Given the description of an element on the screen output the (x, y) to click on. 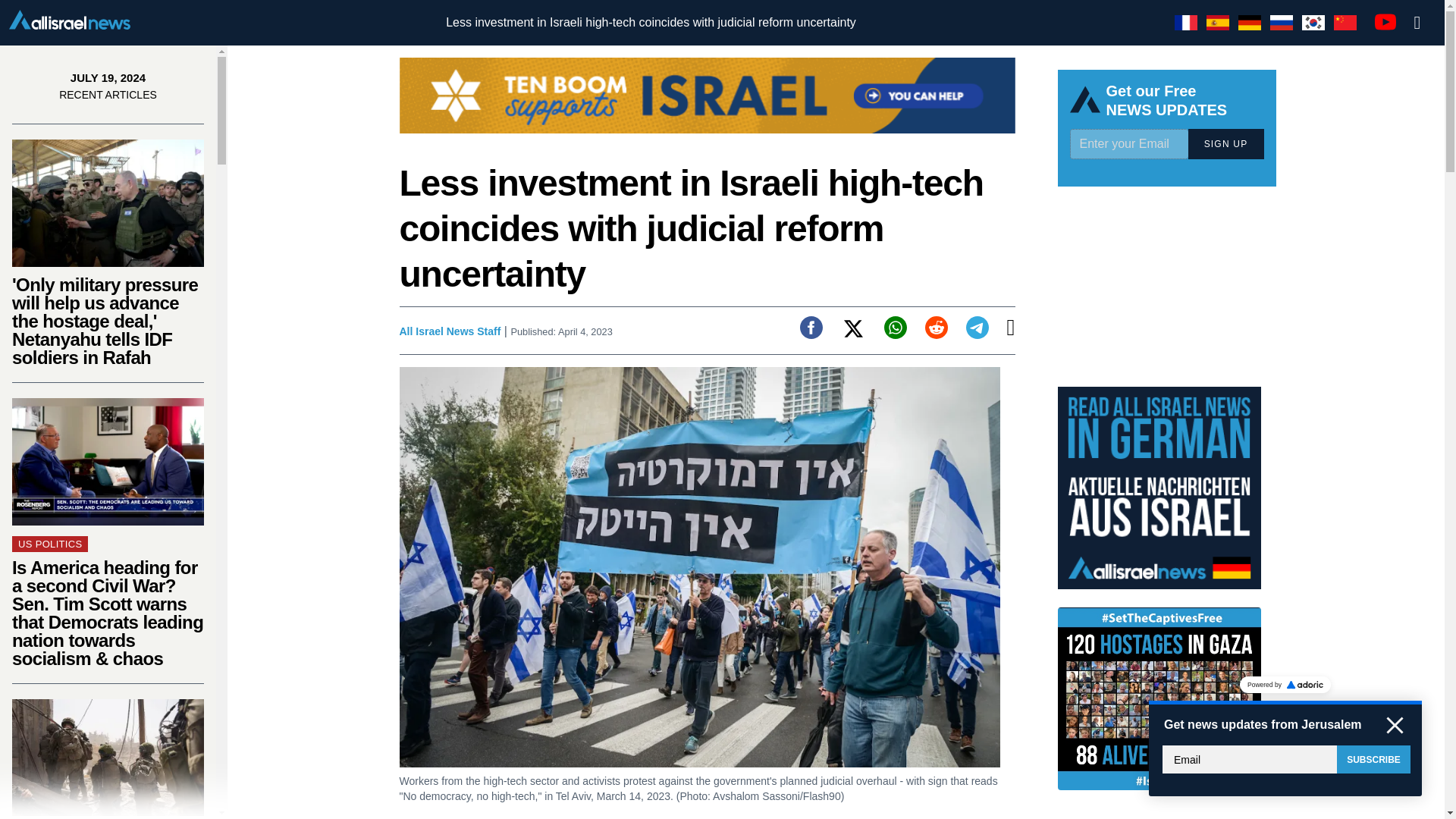
French (1185, 22)
Youtube (1385, 20)
SUBSCRIBE (1373, 759)
Korean (1312, 22)
Search (1417, 22)
German (1249, 22)
Spanish (1217, 22)
Chinese (1344, 22)
Russian (1280, 22)
